Given the description of an element on the screen output the (x, y) to click on. 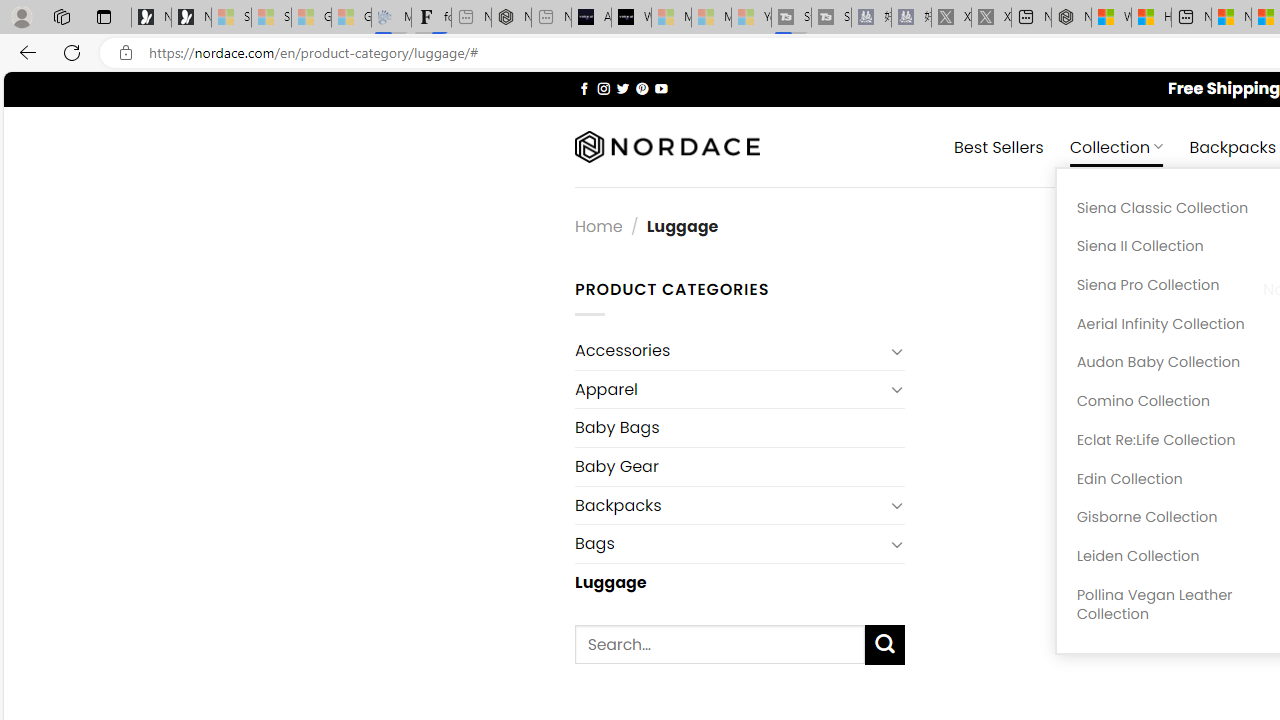
Personal Profile (21, 16)
Follow on Twitter (621, 88)
Follow on Pinterest (642, 88)
Apparel (729, 389)
Baby Gear (739, 465)
Luggage (739, 581)
Search for: (720, 644)
X - Sleeping (991, 17)
Nordace - My Account (1071, 17)
Bags (729, 543)
